Given the description of an element on the screen output the (x, y) to click on. 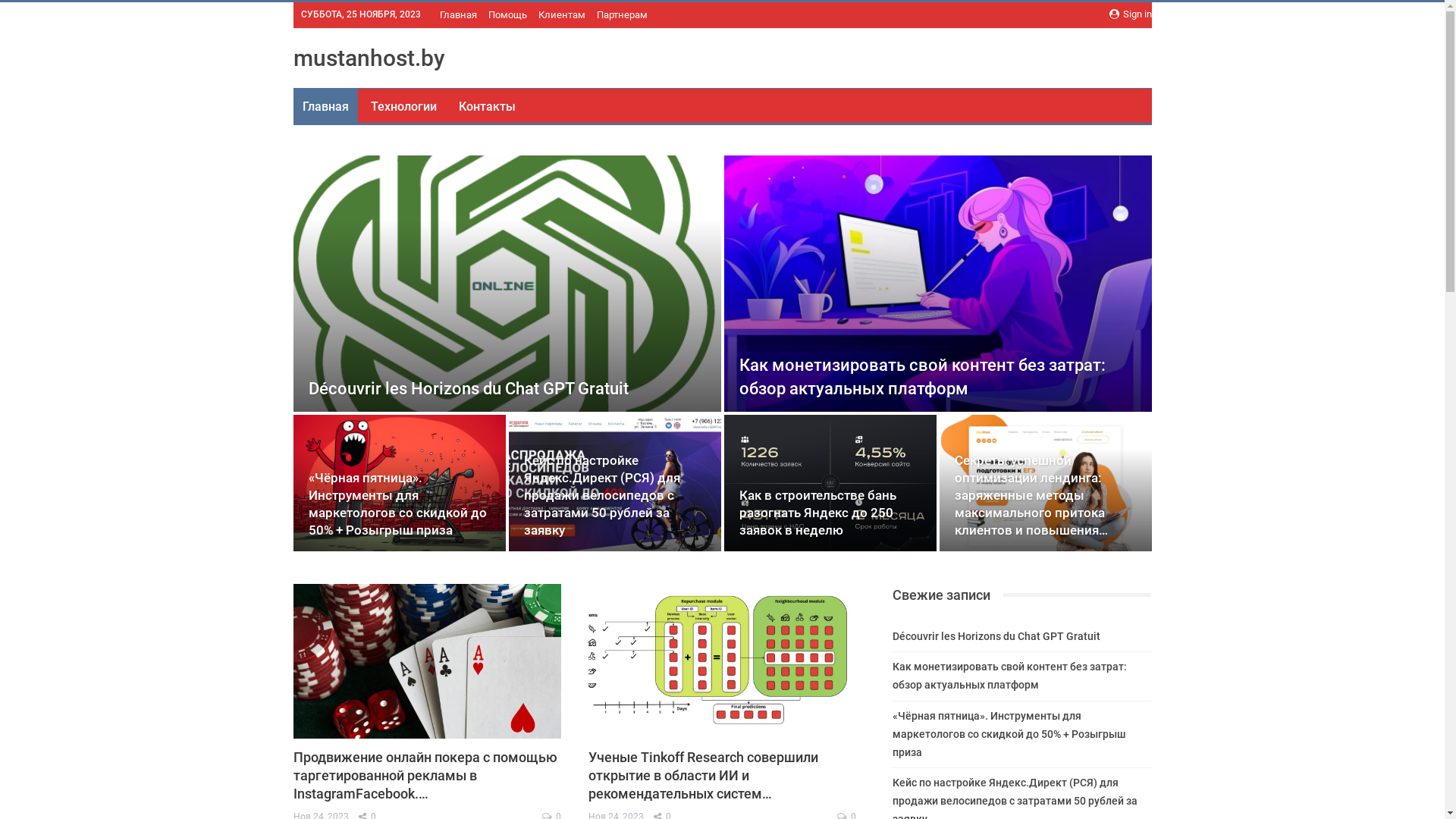
Sign in Element type: text (1129, 14)
mustanhost.by Element type: text (368, 57)
